Given the description of an element on the screen output the (x, y) to click on. 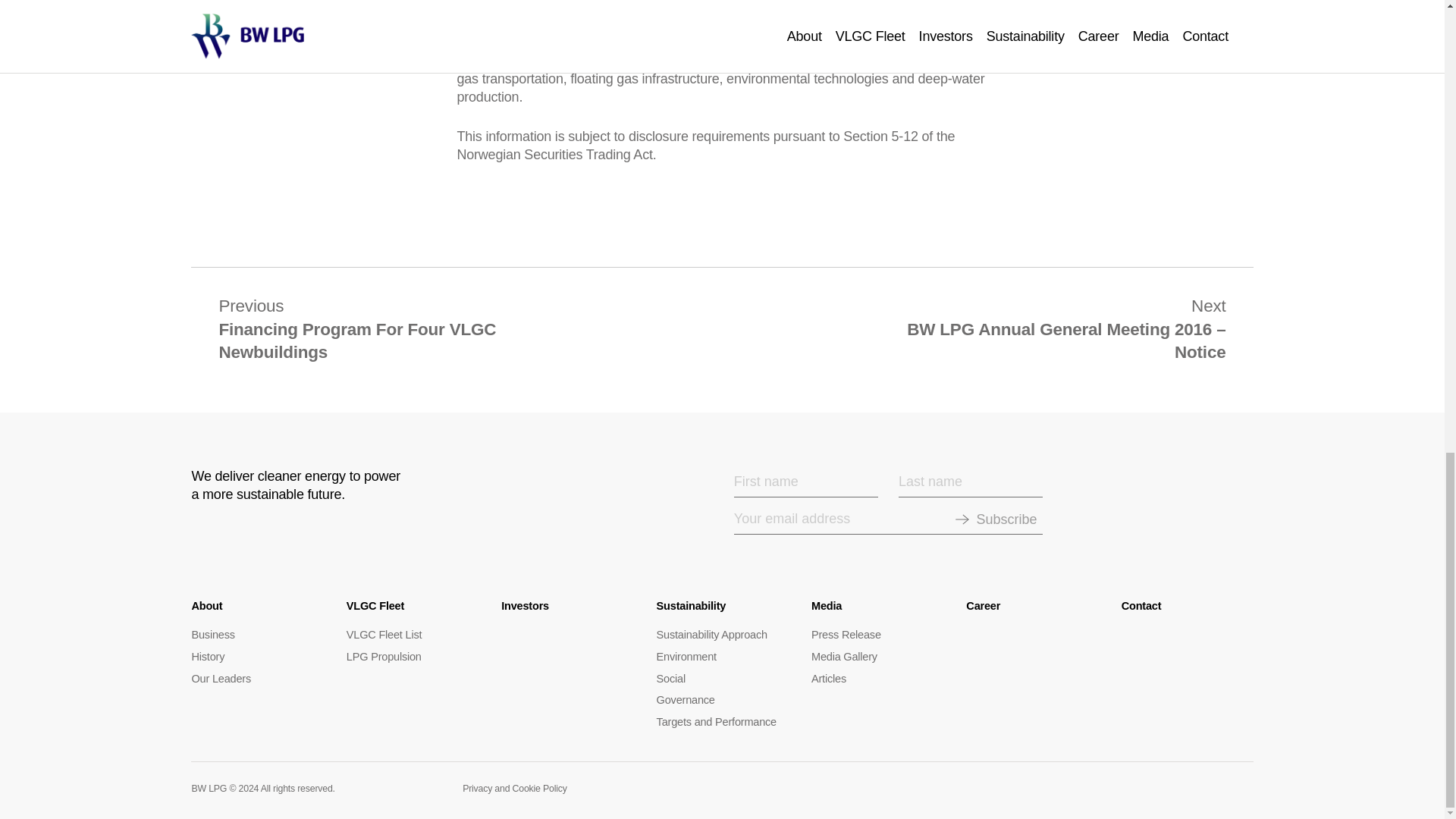
Subscribe (1005, 519)
